Given the description of an element on the screen output the (x, y) to click on. 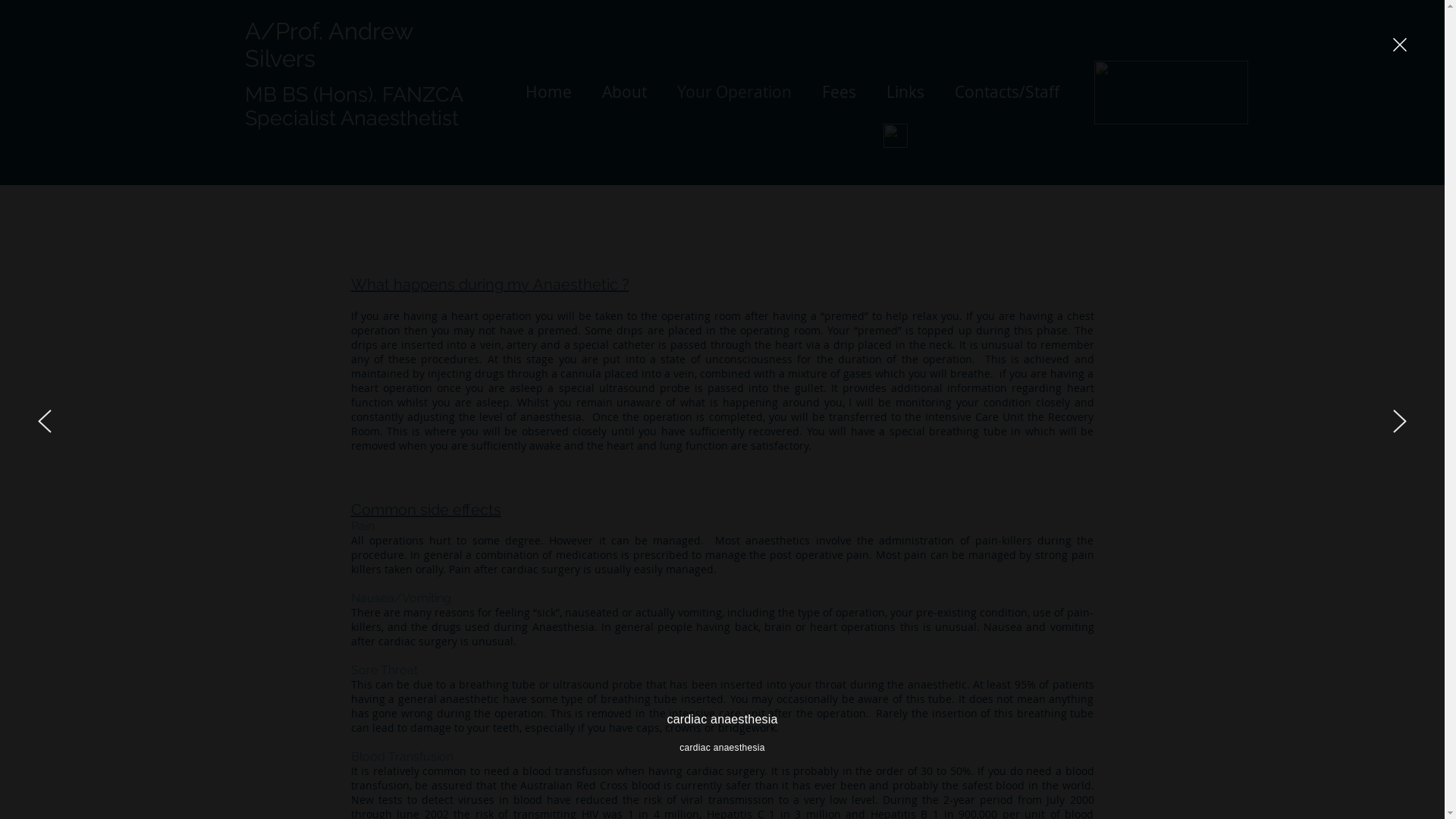
Home Element type: text (547, 91)
About Element type: text (624, 91)
Links Element type: text (904, 91)
Your Operation Element type: text (733, 91)
Site Search Element type: hover (997, 135)
Fees Element type: text (838, 91)
Contacts/Staff Element type: text (1005, 91)
A/Prof. Andrew Silvers Element type: text (327, 44)
send us an email Element type: hover (894, 135)
